Given the description of an element on the screen output the (x, y) to click on. 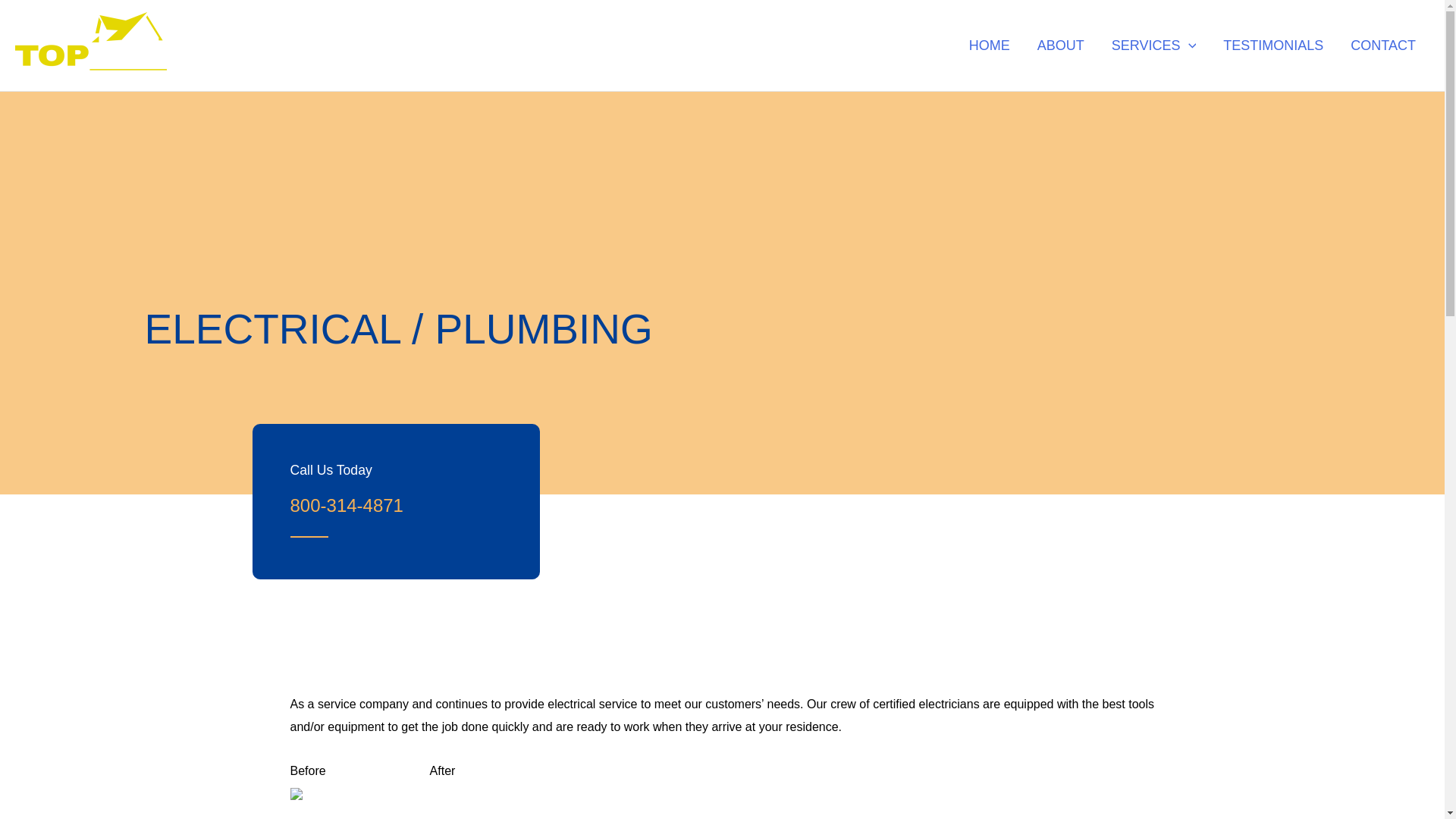
CONTACT (1382, 45)
TESTIMONIALS (1272, 45)
HOME (989, 45)
SERVICES (1153, 45)
ABOUT (1060, 45)
